Given the description of an element on the screen output the (x, y) to click on. 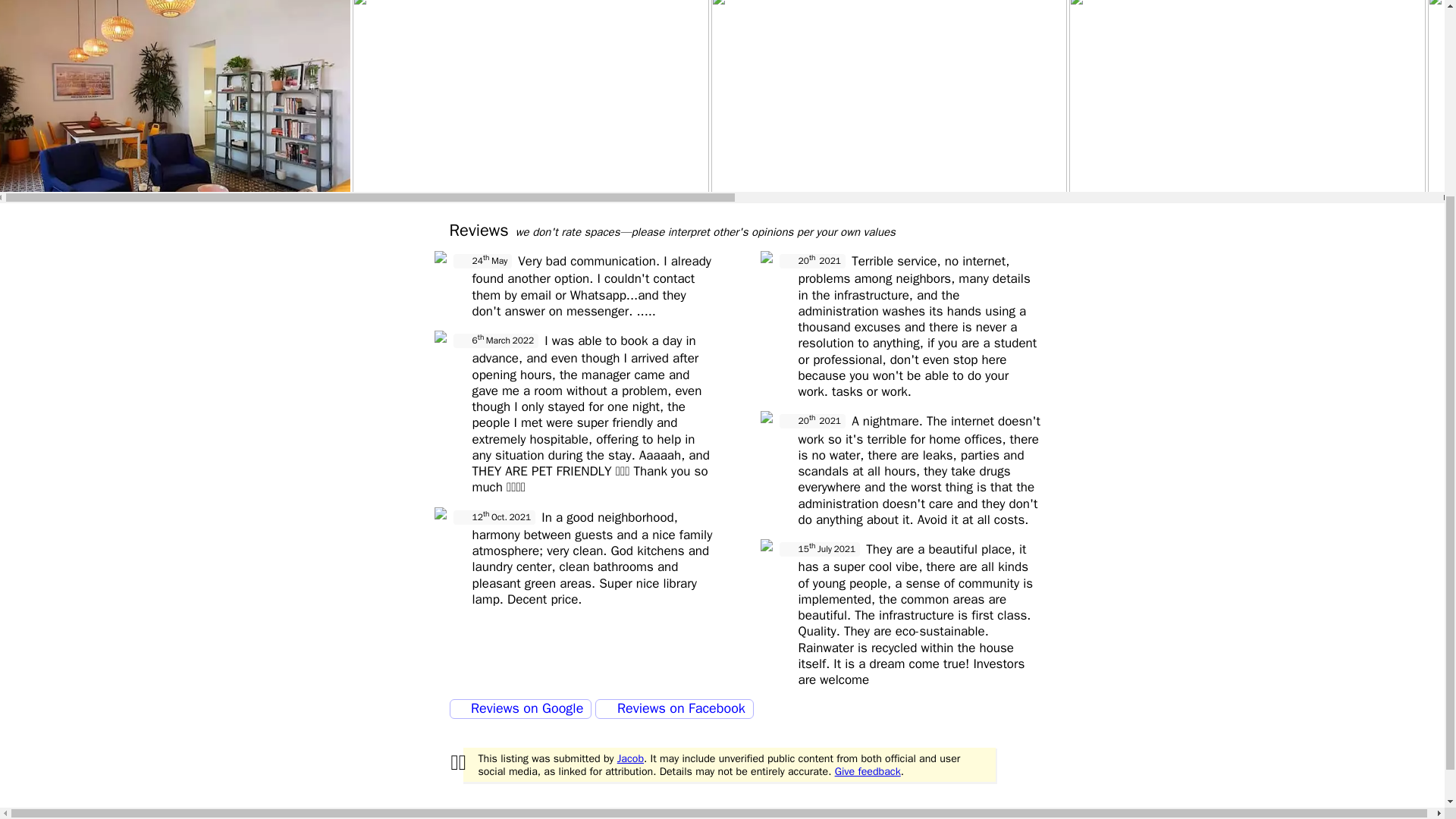
Reviews on Facebook (673, 709)
Reviews on Google (519, 709)
